Given the description of an element on the screen output the (x, y) to click on. 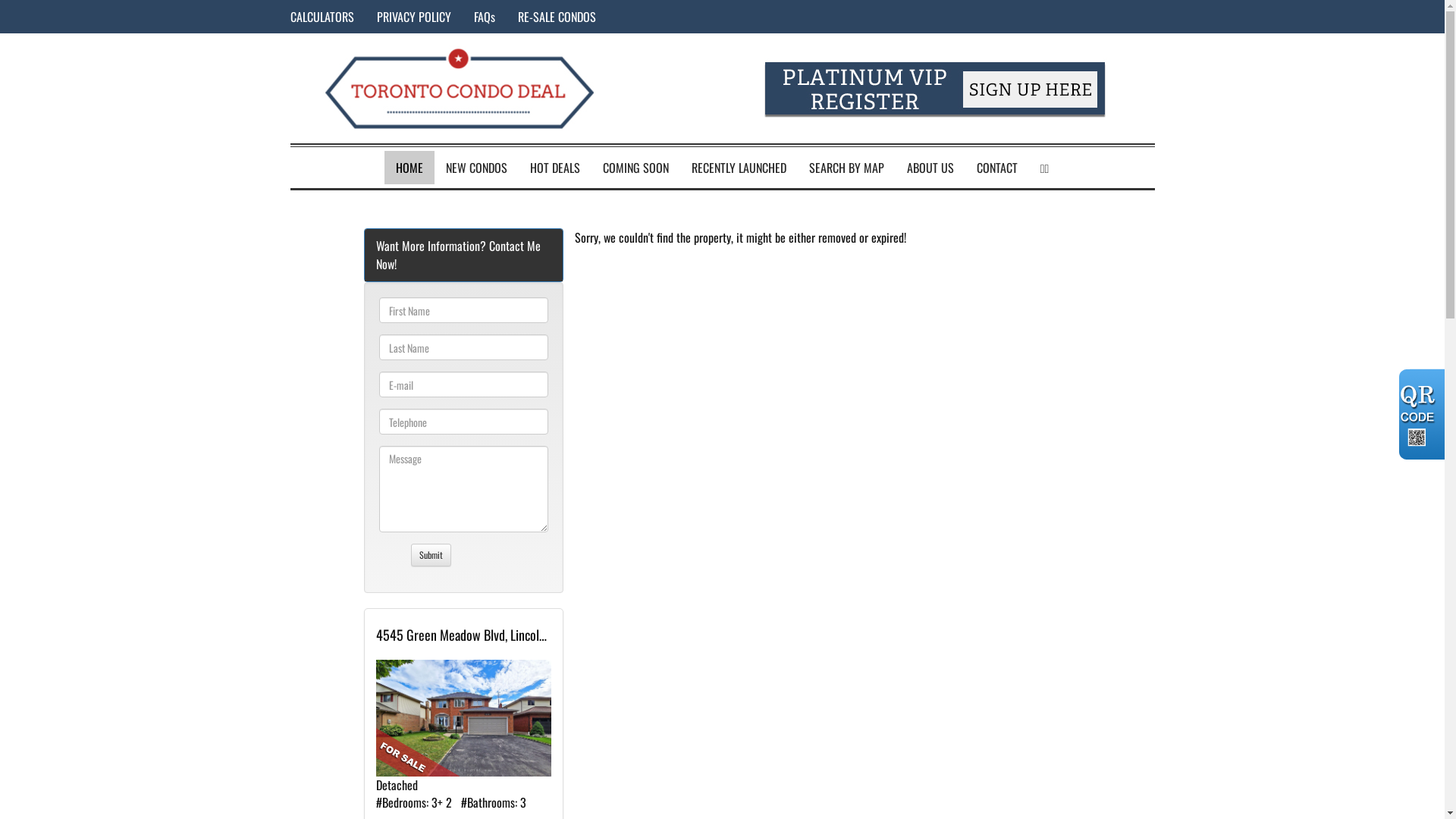
4545 Green Meadow Blvd, Lincoln, Ontario Element type: text (463, 639)
ABOUT US Element type: text (930, 167)
COMING SOON Element type: text (635, 167)
Submit Element type: text (431, 554)
RE-SALE CONDOS Element type: text (556, 16)
FAQs Element type: text (484, 16)
HOME Element type: text (409, 167)
NEW CONDOS Element type: text (476, 167)
HOT DEALS Element type: text (554, 167)
SEARCH BY MAP Element type: text (846, 167)
RECENTLY LAUNCHED Element type: text (738, 167)
PRIVACY POLICY Element type: text (413, 16)
CALCULATORS Element type: text (322, 16)
CONTACT Element type: text (997, 167)
